Given the description of an element on the screen output the (x, y) to click on. 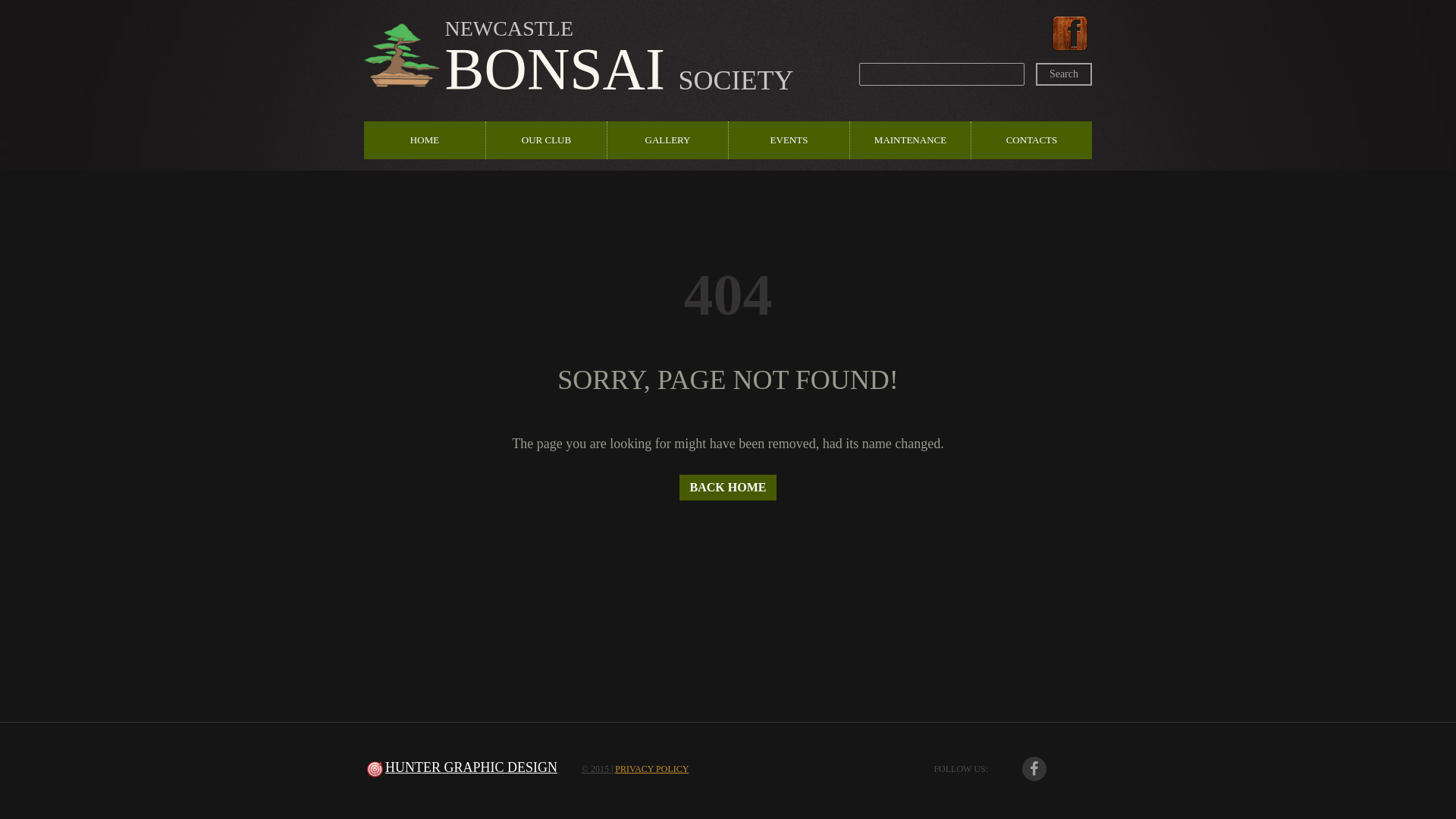
BACK HOME Element type: text (728, 487)
EVENTS Element type: text (788, 140)
HOME Element type: text (424, 140)
PRIVACY POLICY Element type: text (651, 768)
GALLERY Element type: text (667, 140)
HUNTER GRAPHIC DESIGN Element type: text (471, 767)
Search Element type: text (1063, 73)
MAINTENANCE Element type: text (909, 140)
OUR CLUB Element type: text (545, 140)
CONTACTS Element type: text (1031, 140)
BONSAI Element type: text (555, 68)
